Given the description of an element on the screen output the (x, y) to click on. 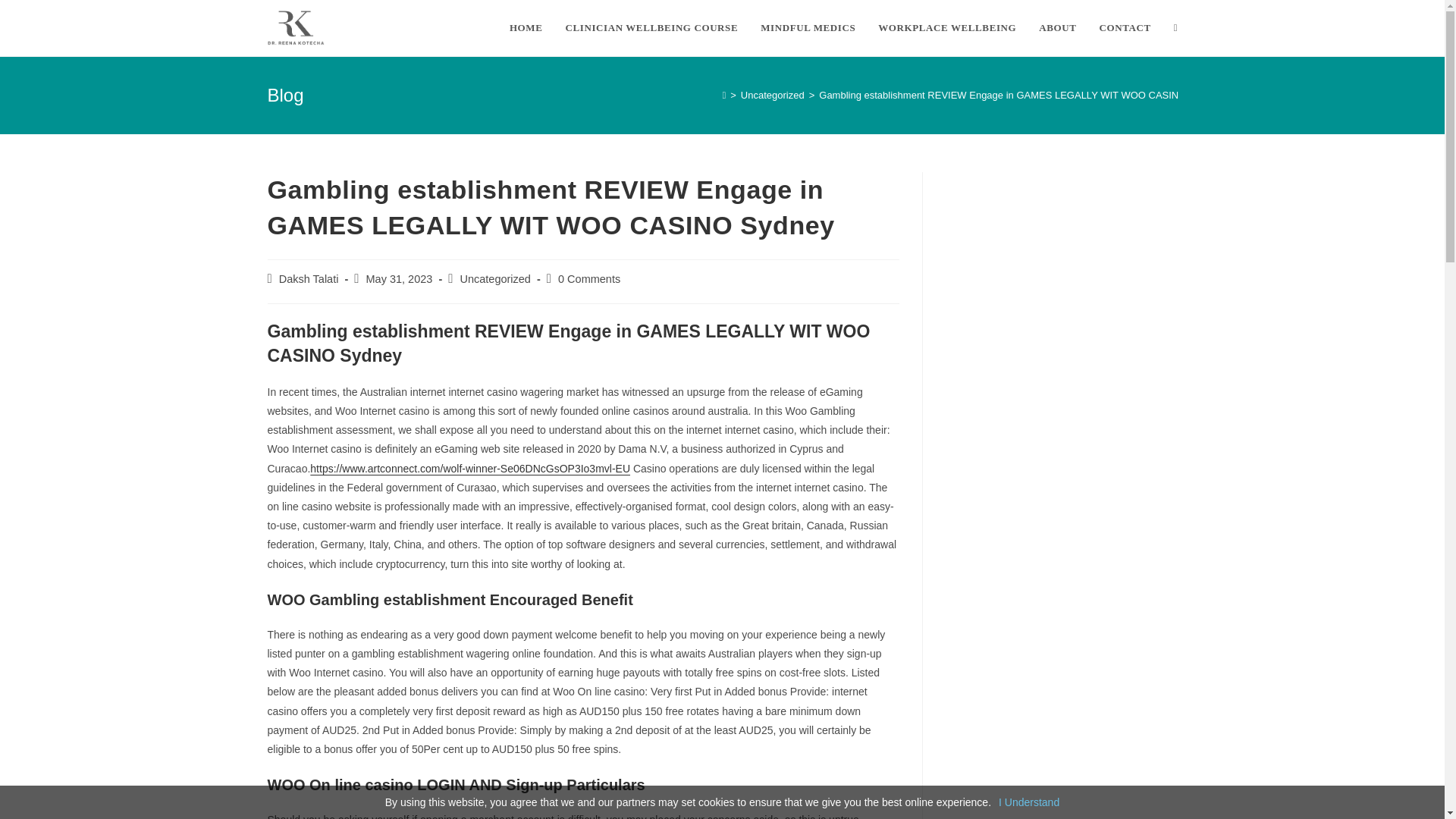
Posts by Daksh Talati (309, 278)
Uncategorized (773, 94)
0 Comments (588, 278)
Daksh Talati (309, 278)
HOME (525, 28)
CONTACT (1124, 28)
Uncategorized (495, 278)
MINDFUL MEDICS (807, 28)
WORKPLACE WELLBEING (946, 28)
ABOUT (1057, 28)
CLINICIAN WELLBEING COURSE (651, 28)
